Given the description of an element on the screen output the (x, y) to click on. 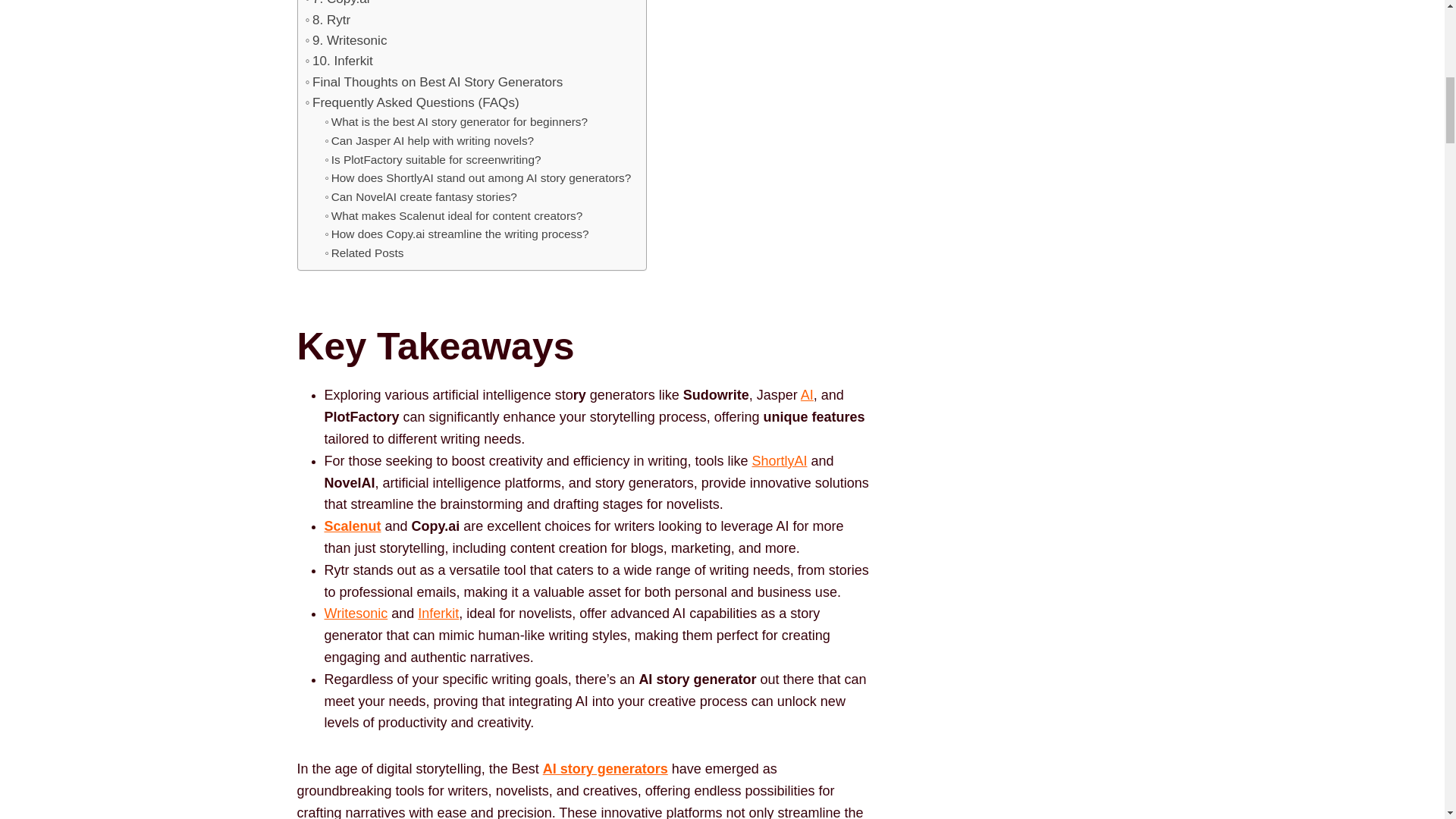
What is the best AI story generator for beginners? (456, 122)
Can Jasper AI help with writing novels? (429, 140)
8. Rytr (327, 19)
7. Copy.ai (336, 4)
10. Inferkit (338, 60)
9. Writesonic (345, 40)
Final Thoughts on Best AI Story Generators (433, 82)
